Given the description of an element on the screen output the (x, y) to click on. 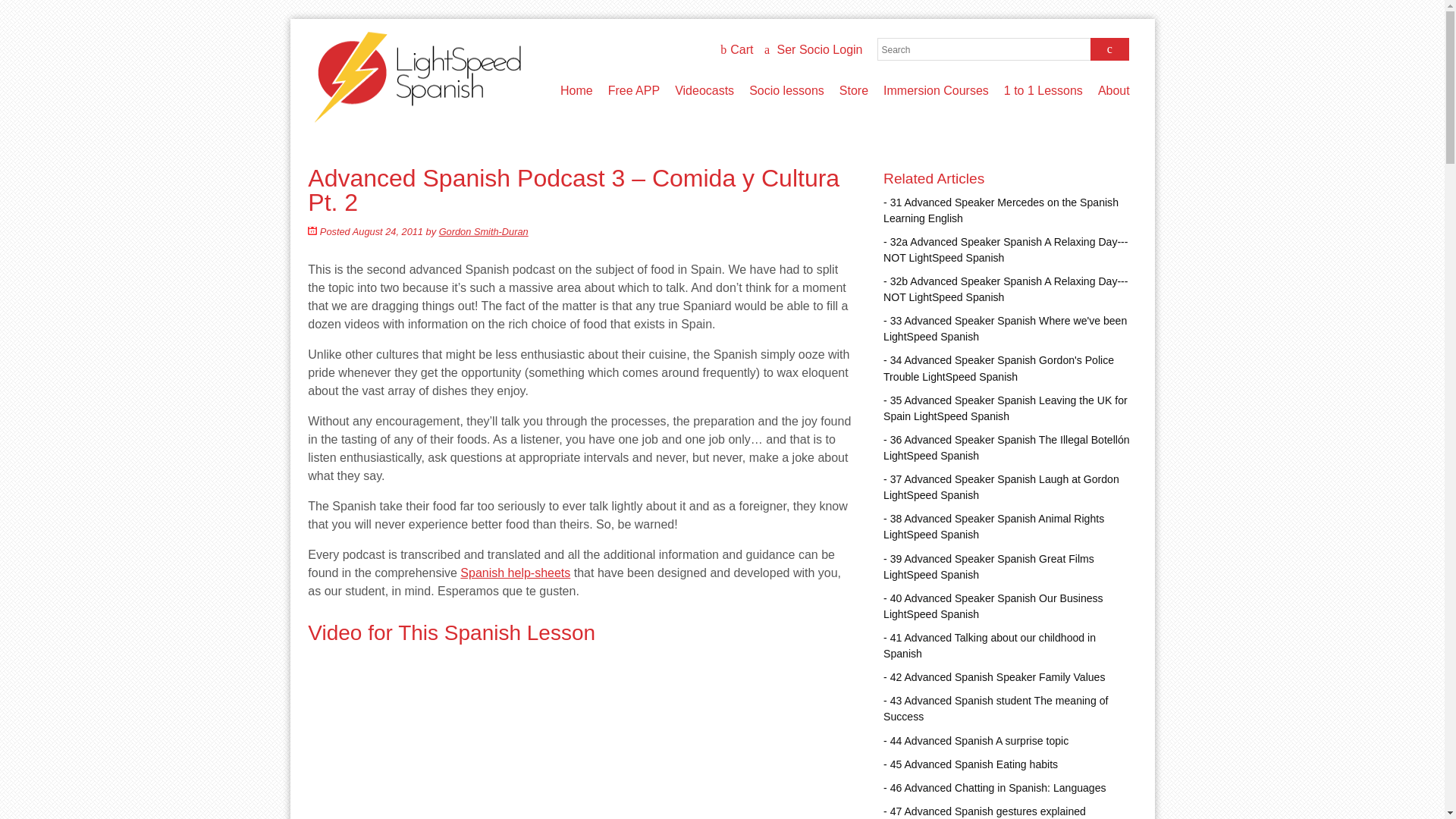
Immersion Courses (935, 90)
Free APP (632, 90)
Ser Socio Login (813, 49)
Spanish help-sheets (515, 572)
Home (576, 90)
1 to 1 Lessons (1042, 90)
Cart (736, 49)
31 Advanced Speaker Mercedes on the Spanish Learning English (1006, 210)
Gordon Smith-Duran (483, 231)
